Given the description of an element on the screen output the (x, y) to click on. 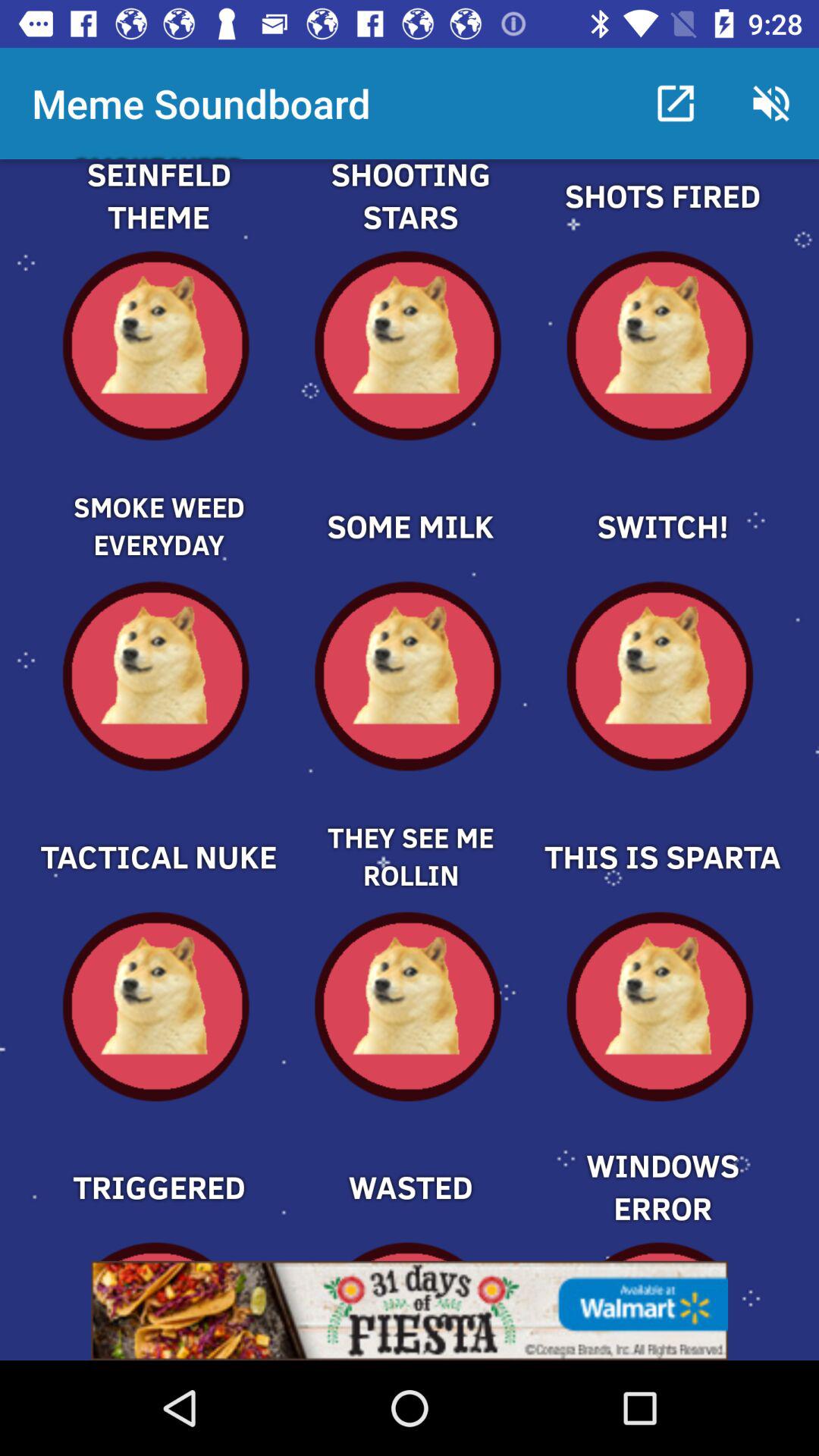
select tactical nuke (157, 830)
